Given the description of an element on the screen output the (x, y) to click on. 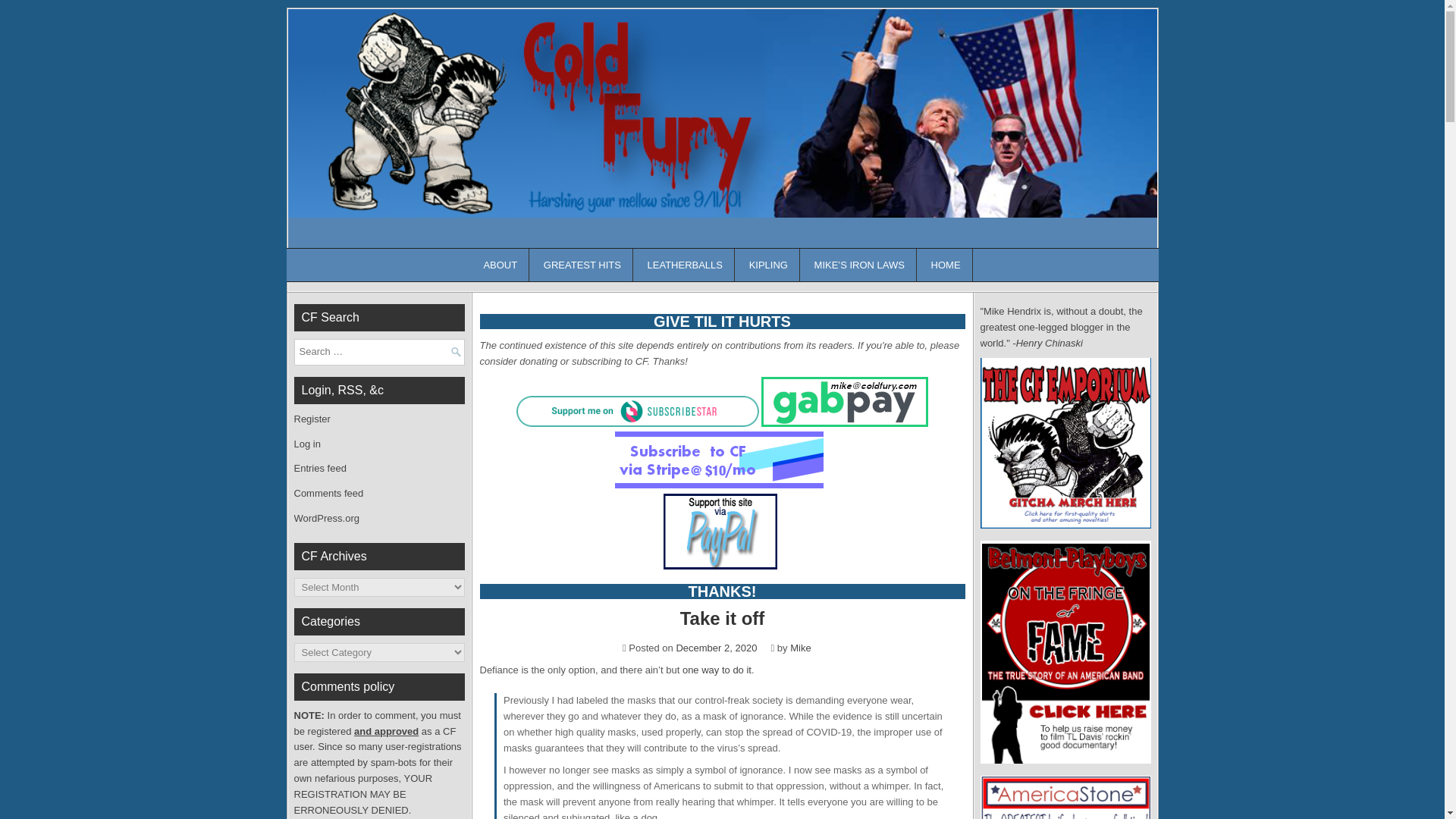
ABOUT (500, 264)
LEATHERBALLS (685, 264)
Type and hit enter (379, 352)
No fear (716, 669)
GREATEST HITS (582, 264)
